Given the description of an element on the screen output the (x, y) to click on. 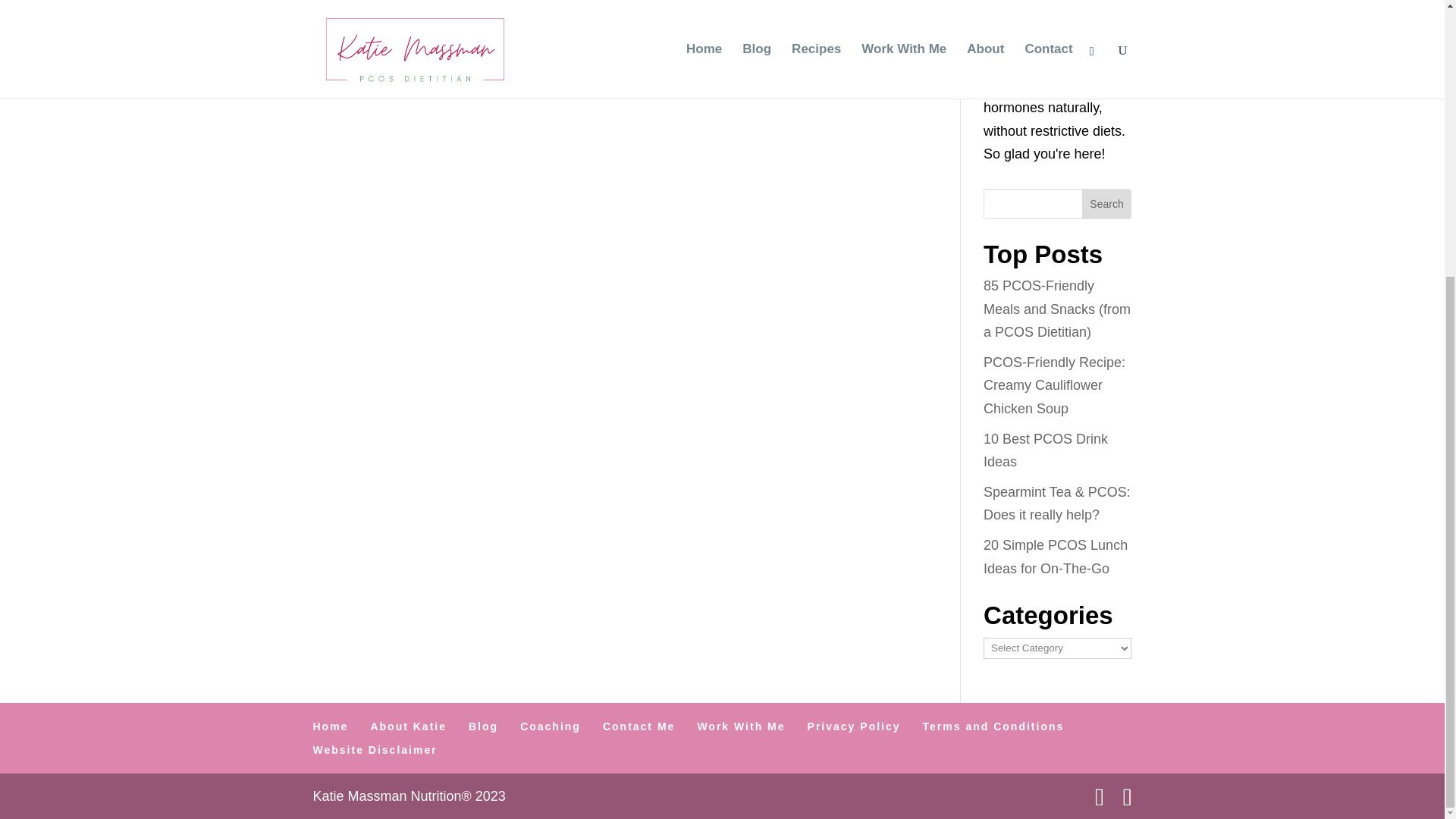
PCOS-Friendly Recipe: Creamy Cauliflower Chicken Soup (1054, 385)
20 Simple PCOS Lunch Ideas for On-The-Go (1055, 556)
Blog (482, 726)
Privacy Policy (854, 726)
Terms and Conditions (993, 726)
Search (1106, 204)
Home (330, 726)
Website Disclaimer (374, 749)
Work With Me (740, 726)
Contact Me (638, 726)
